Given the description of an element on the screen output the (x, y) to click on. 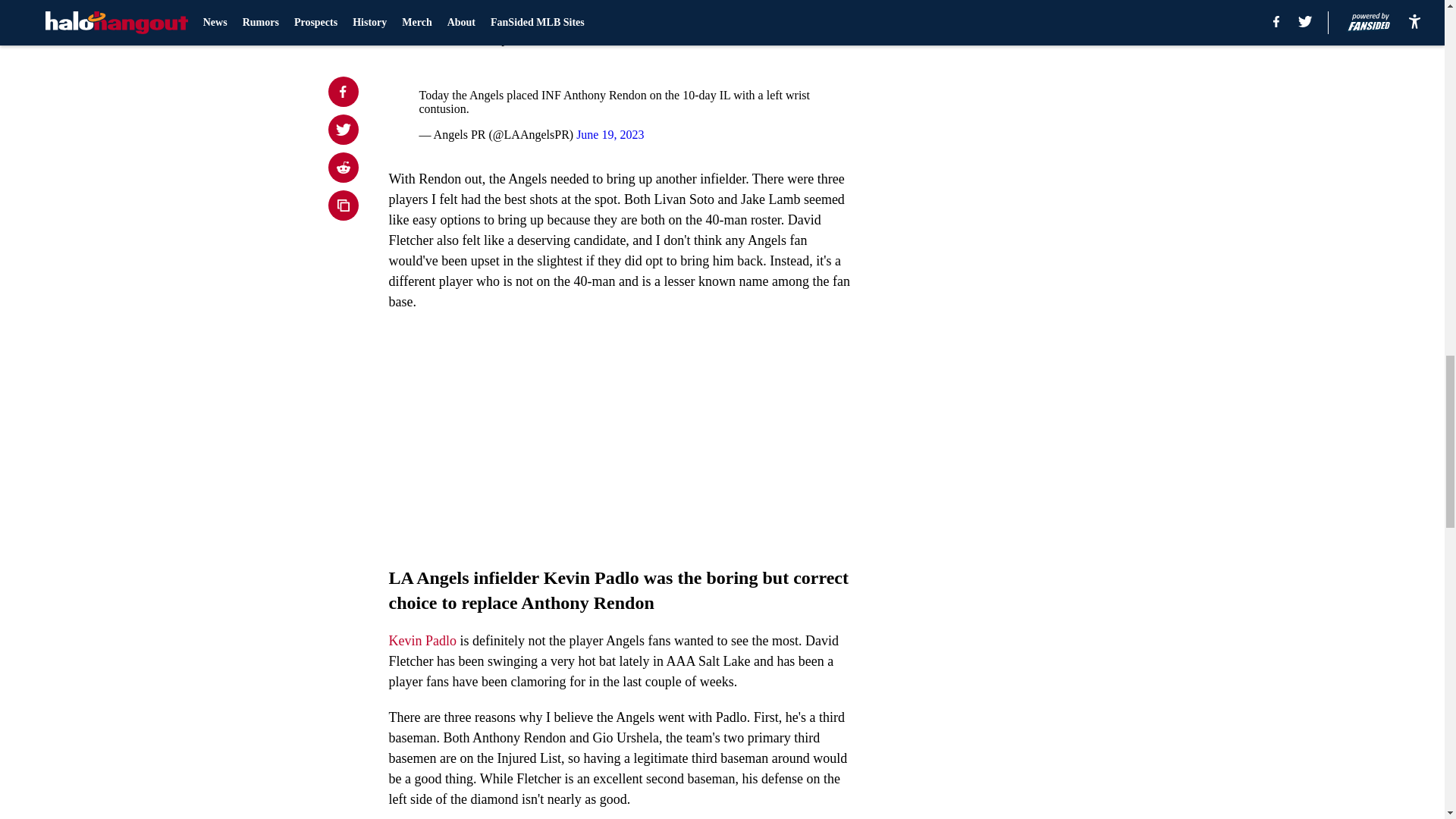
June 19, 2023 (609, 133)
Kevin Padlo (422, 640)
